Given the description of an element on the screen output the (x, y) to click on. 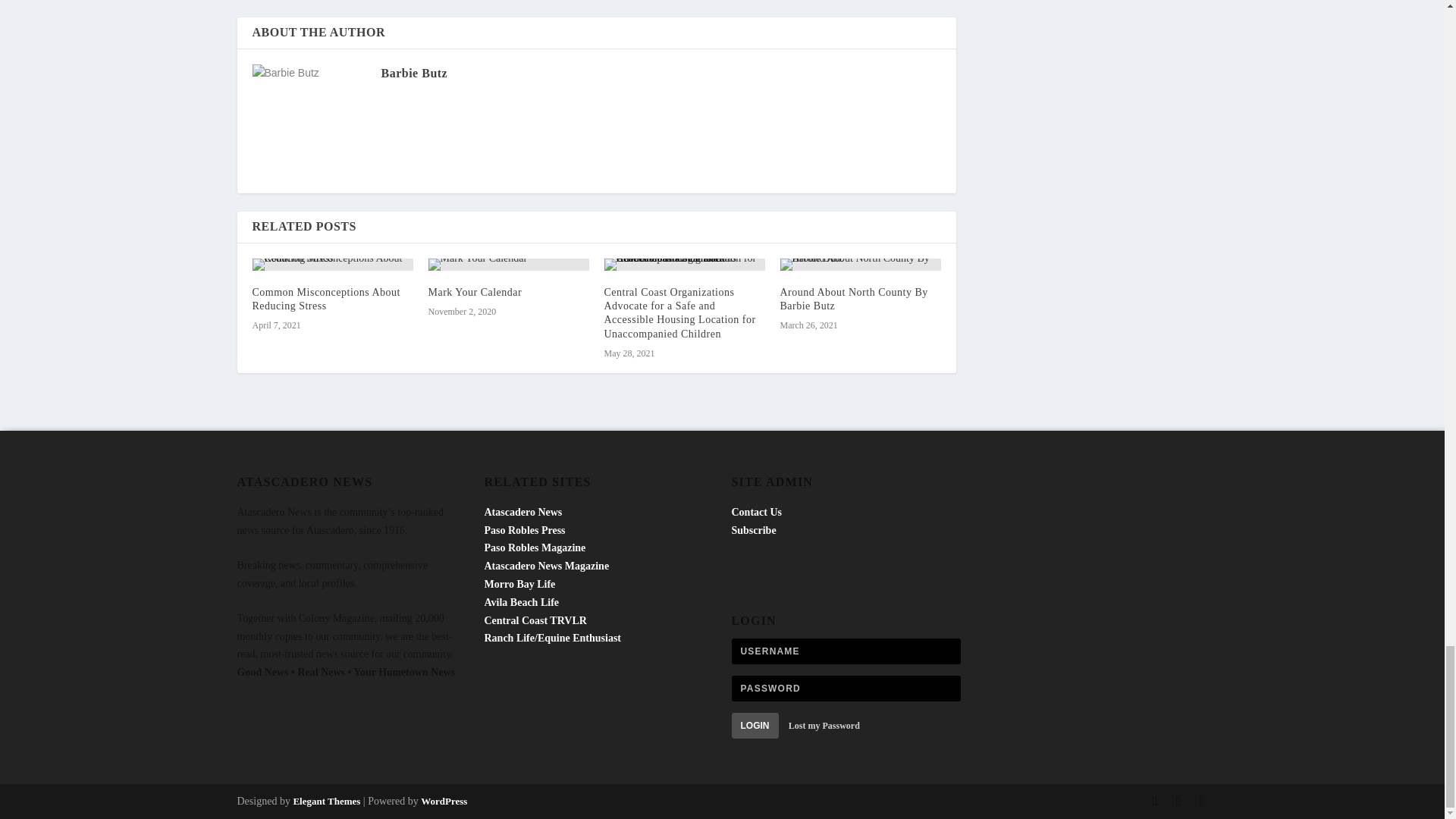
Mark Your Calendar (508, 264)
Common Misconceptions About Reducing Stress (325, 299)
Barbie Butz (413, 72)
Mark Your Calendar (474, 292)
Around About North County By Barbie Butz (852, 299)
Around About North County By Barbie Butz (859, 264)
View all posts by Barbie Butz (413, 72)
Common Misconceptions About Reducing Stress (331, 264)
